Given the description of an element on the screen output the (x, y) to click on. 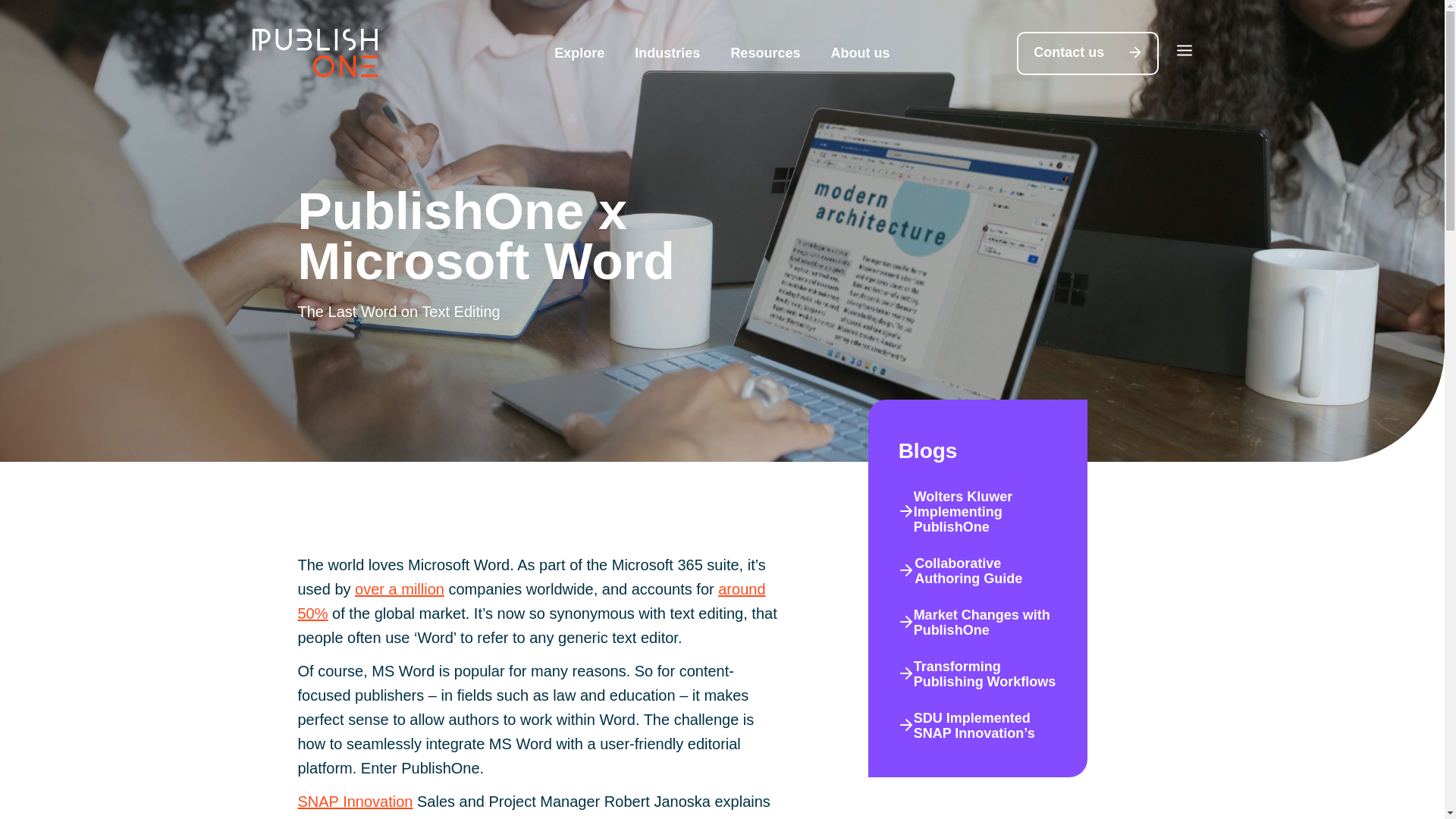
Resources (764, 52)
Industries (667, 52)
SNAP Innovation (354, 801)
Contact us (1087, 53)
Explore (579, 52)
publishone-logo-diap (314, 52)
About us (859, 52)
over a million (399, 588)
